Given the description of an element on the screen output the (x, y) to click on. 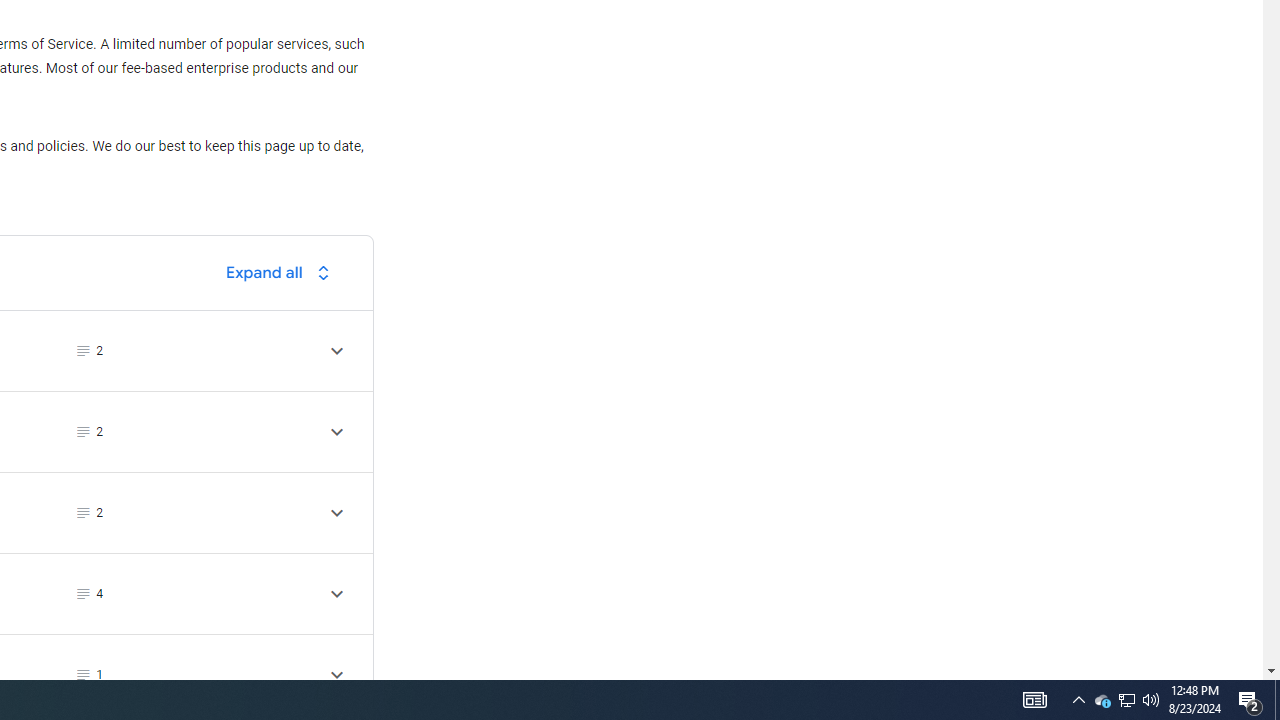
Expand all (283, 272)
